Given the description of an element on the screen output the (x, y) to click on. 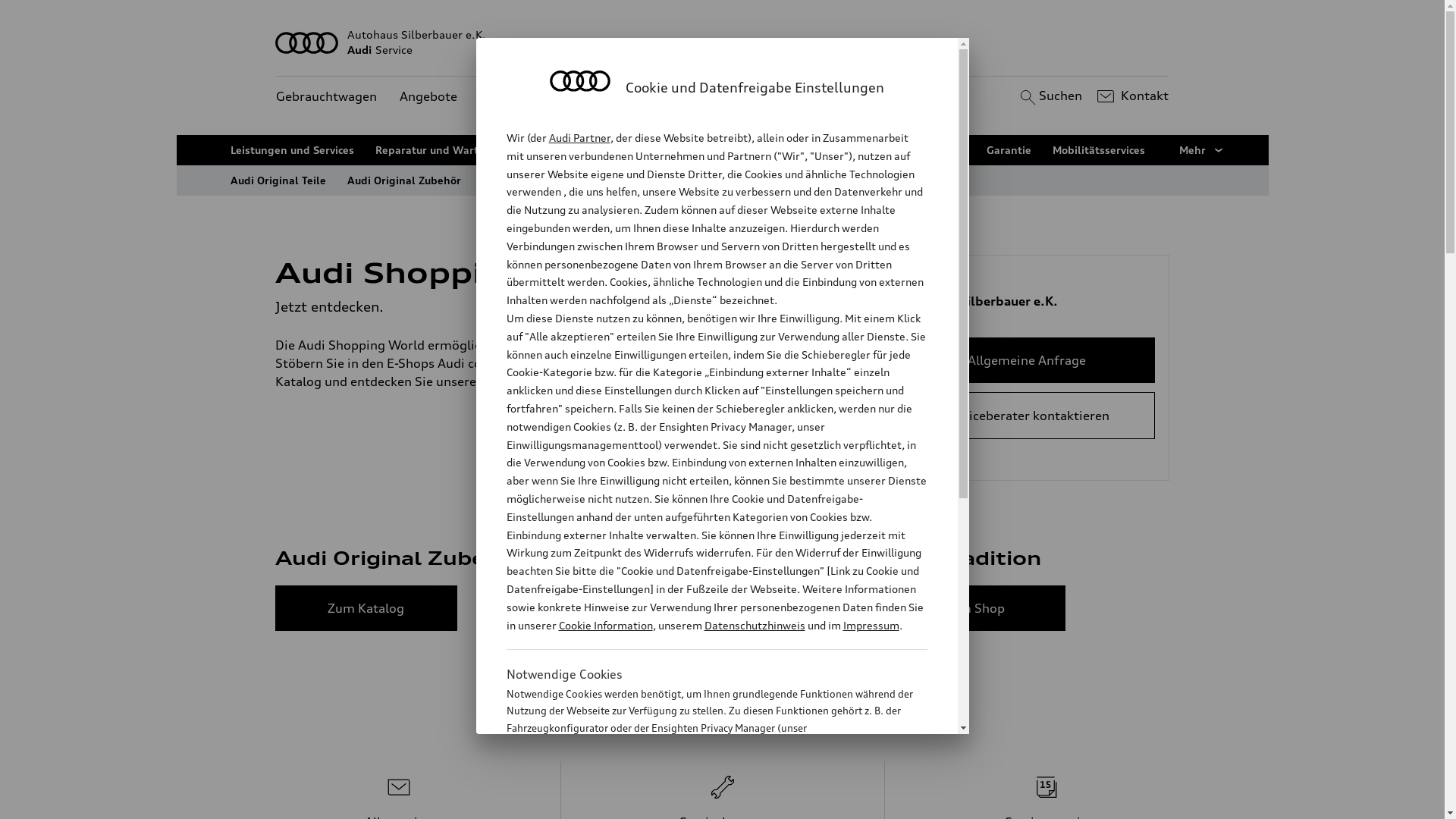
Ihre Ansprechpartner Element type: text (808, 149)
Zum Shop Element type: text (670, 607)
Audi Original Teile Element type: text (277, 180)
Leistungen und Services Element type: text (291, 149)
Allgemeine Anfrage Element type: text (1025, 359)
Versicherungen Element type: text (925, 149)
Zum Katalog Element type: text (366, 607)
Datenschutzhinweis Element type: text (753, 624)
Cookie Information Element type: text (605, 624)
Garantie Element type: text (1008, 149)
Audi Kundendialog Element type: text (682, 149)
Audi Partner Element type: text (579, 137)
Reparatur und Wartung Element type: text (436, 149)
Audi Shopping World Element type: text (537, 180)
Impressum Element type: text (871, 624)
Suchen Element type: text (1049, 96)
Serviceberater kontaktieren Element type: text (1025, 415)
Kontakt Element type: text (1130, 96)
Angebote Element type: text (428, 96)
Mehr Element type: text (1201, 149)
Autohaus Silberbauer e.K.
AudiService Element type: text (722, 42)
Zum Shop Element type: text (974, 607)
Gebrauchtwagen Element type: text (326, 96)
Kundenservice Element type: text (523, 96)
Cookie Information Element type: text (700, 802)
